Given the description of an element on the screen output the (x, y) to click on. 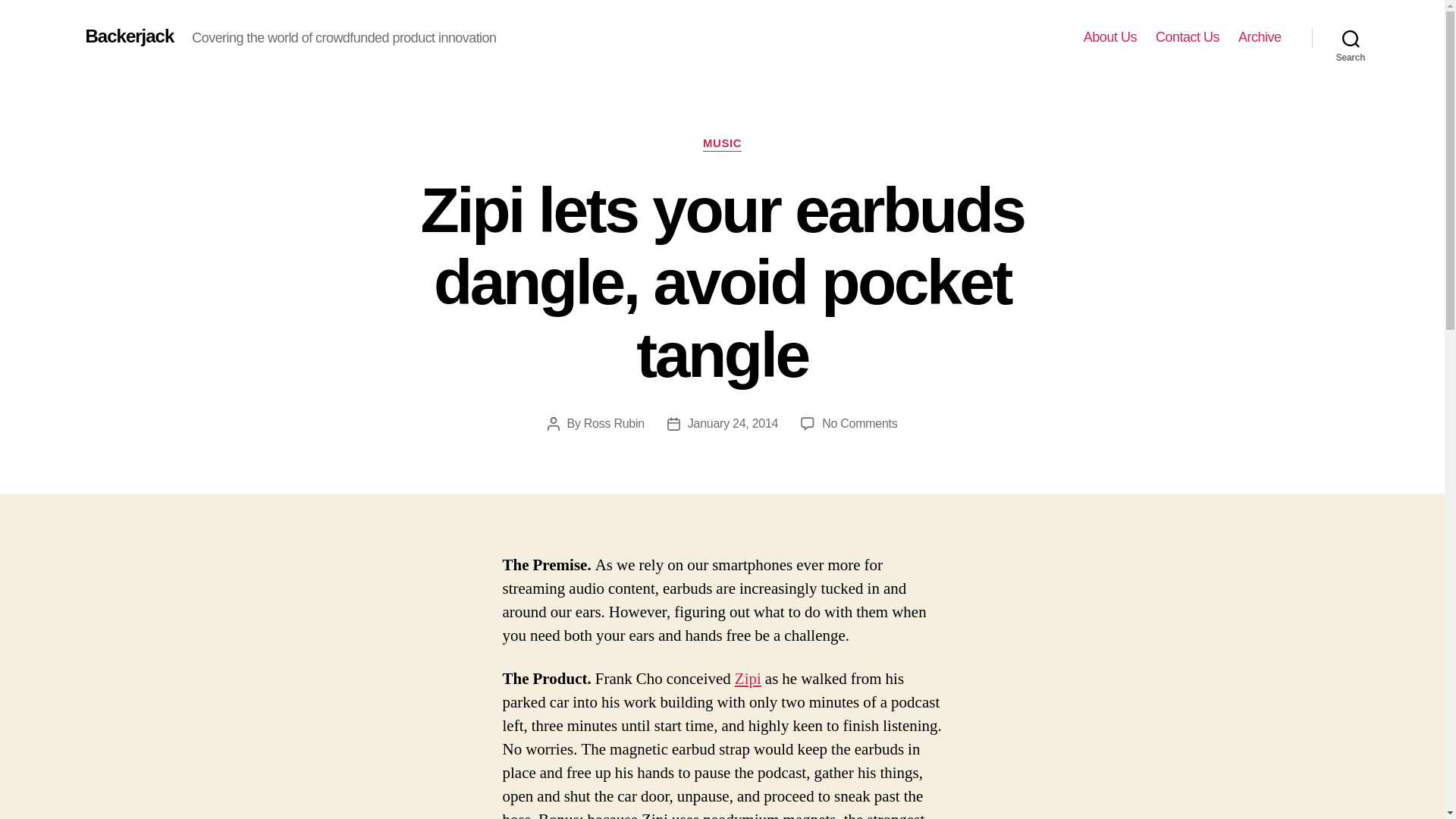
Contact Us (1188, 37)
Search (1350, 37)
About Us (1110, 37)
Ross Rubin (614, 422)
Zipi (748, 679)
Archive (1260, 37)
Backerjack (128, 36)
January 24, 2014 (732, 422)
MUSIC (722, 143)
